Given the description of an element on the screen output the (x, y) to click on. 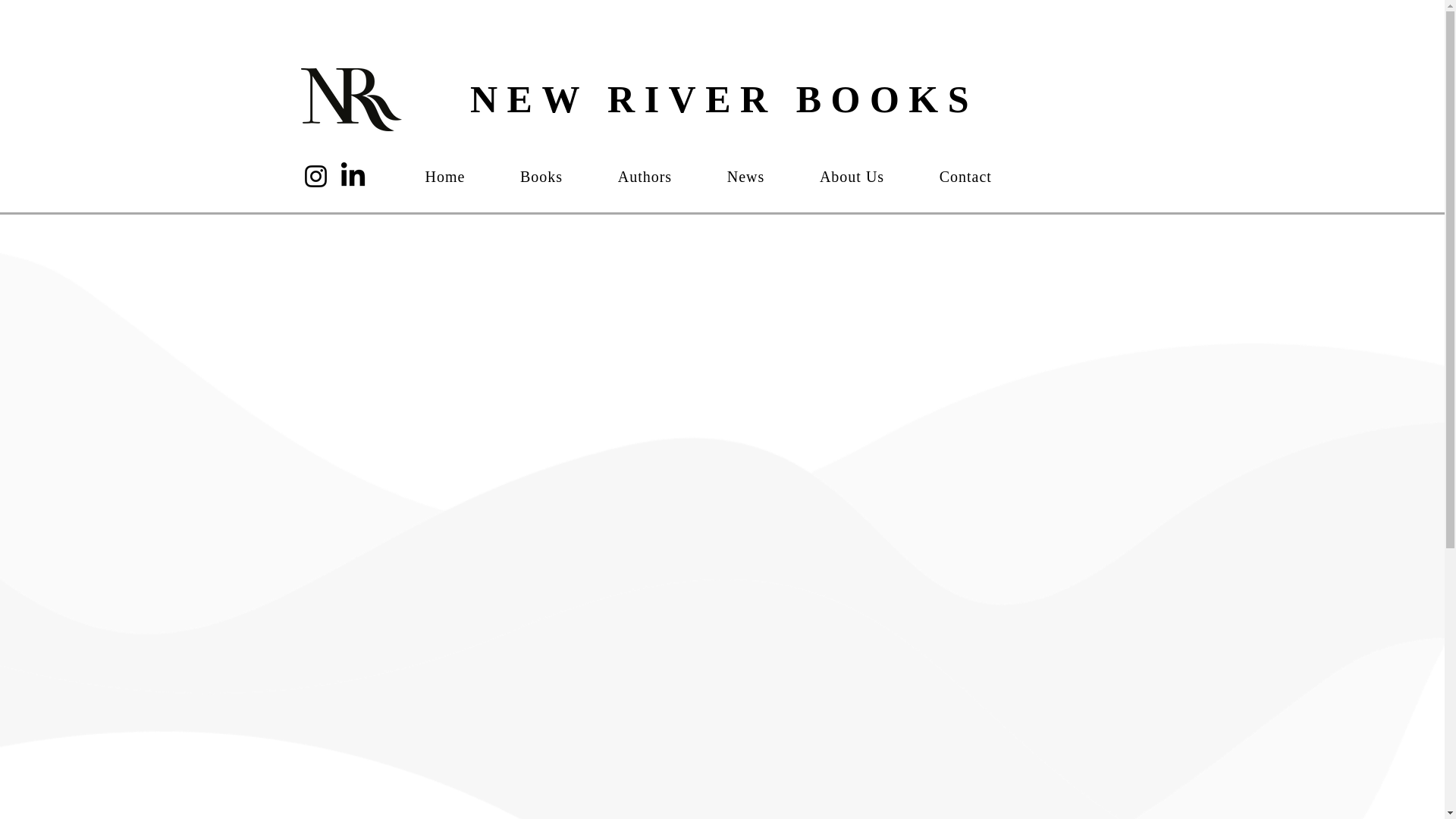
About Us (867, 176)
Authors (660, 176)
News (761, 176)
Home (459, 176)
Contact (980, 176)
Books (556, 176)
